Given the description of an element on the screen output the (x, y) to click on. 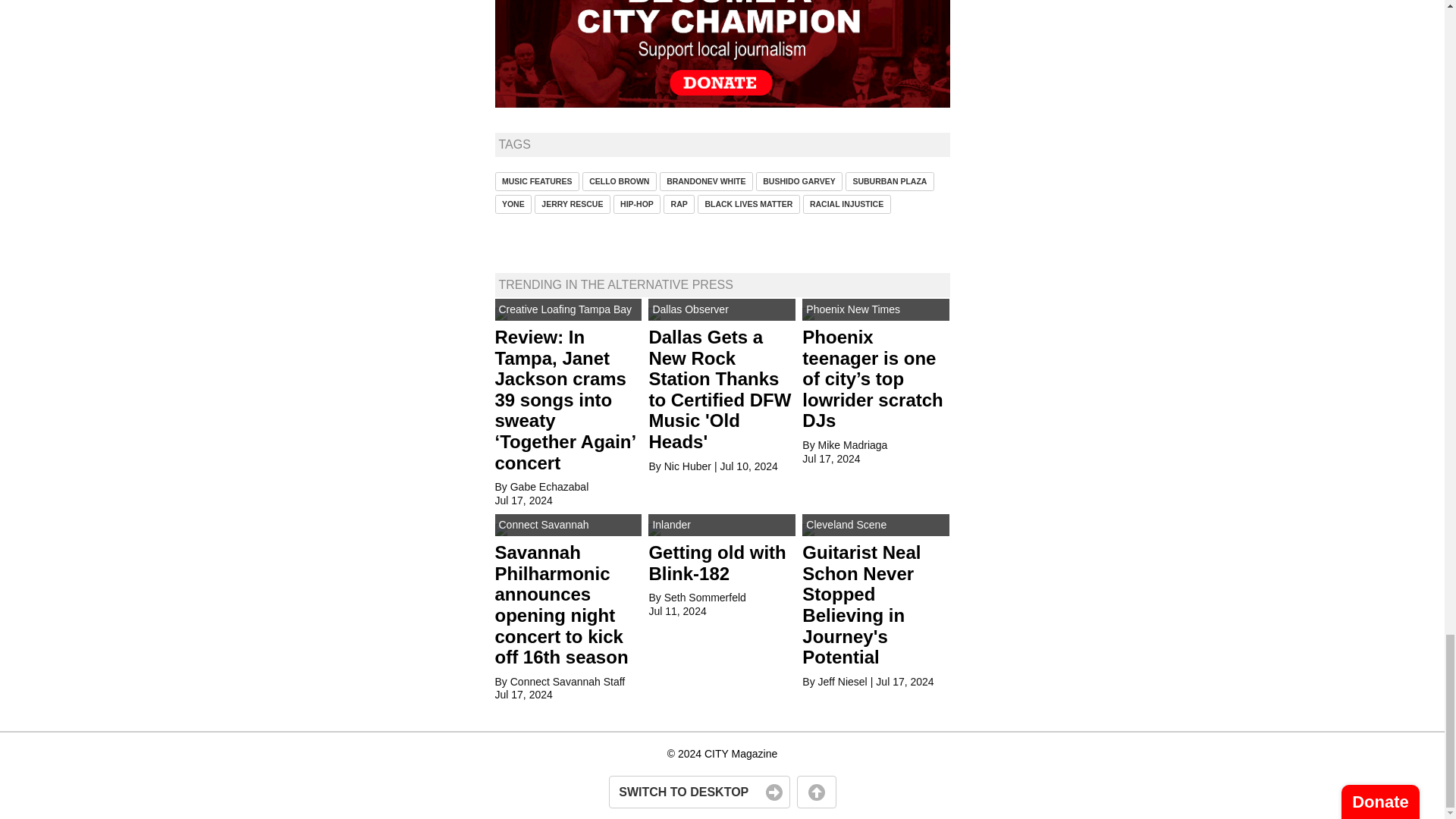
SWITCH TO DESKTOP (698, 792)
JERRY RESCUE (572, 203)
BUSHIDO GARVEY (799, 180)
BRANDONEV WHITE (705, 180)
BACK TO TOP (815, 792)
HIP-HOP (636, 203)
TRENDING IN THE ALTERNATIVE PRESS (616, 284)
SUBURBAN PLAZA (889, 180)
RAP (678, 203)
MUSIC FEATURES (536, 180)
RACIAL INJUSTICE (847, 203)
BLACK LIVES MATTER (748, 203)
